Given the description of an element on the screen output the (x, y) to click on. 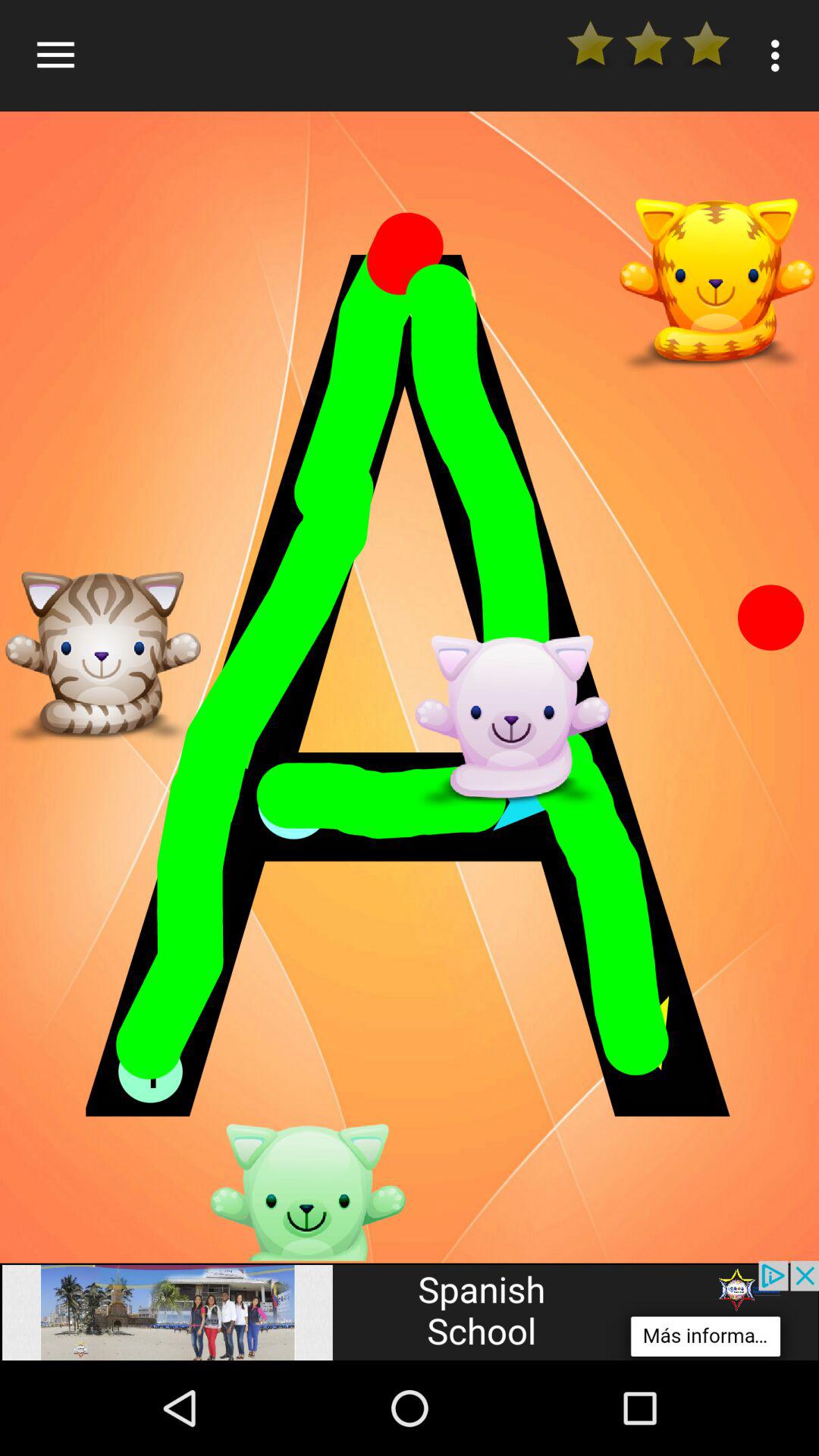
advertisement (409, 1310)
